Given the description of an element on the screen output the (x, y) to click on. 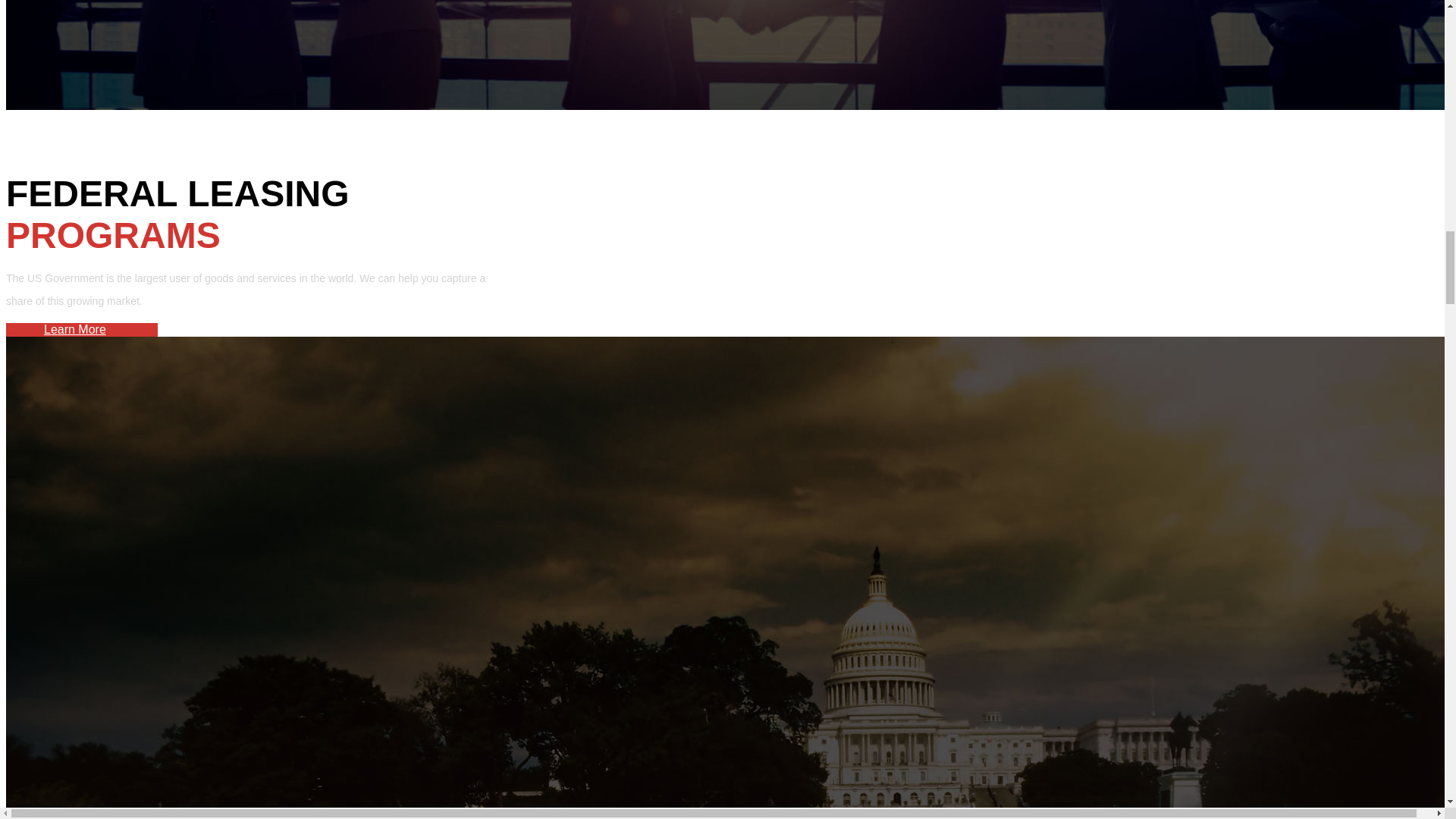
Learn More (74, 328)
